Given the description of an element on the screen output the (x, y) to click on. 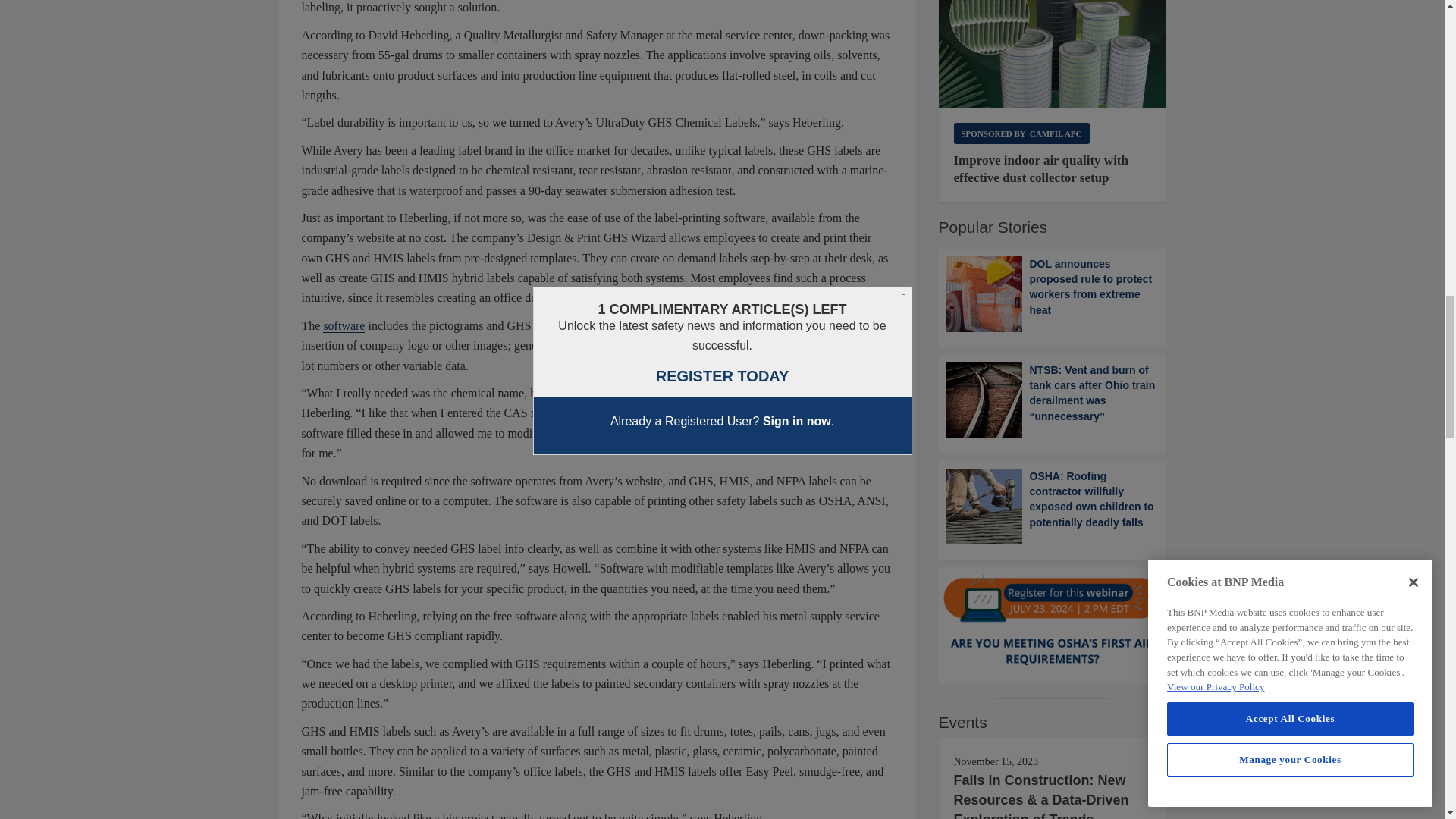
dust collector filters and media (1052, 54)
Sponsored by Camfil APC (1021, 132)
